Given the description of an element on the screen output the (x, y) to click on. 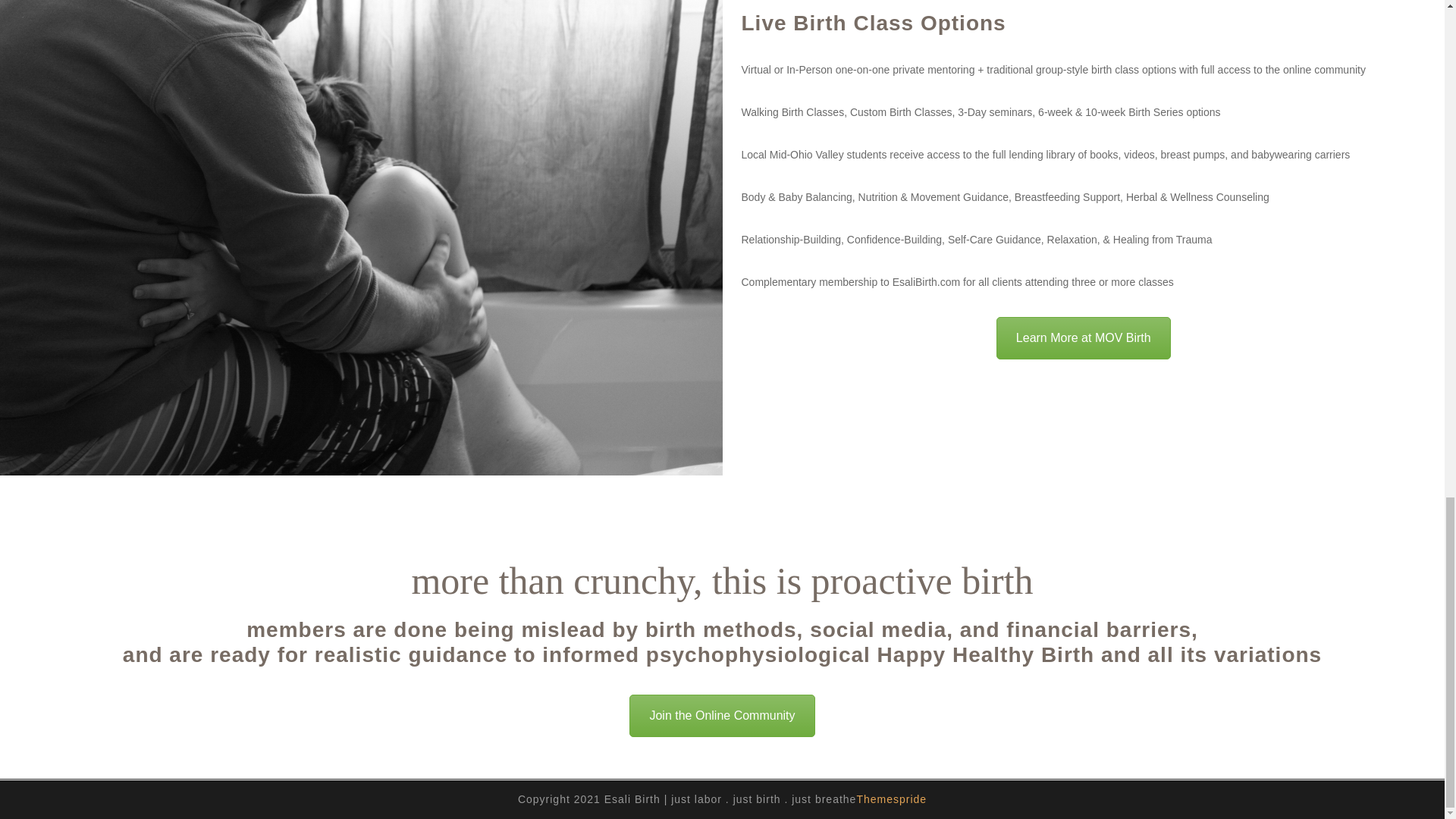
Learn More at MOV Birth (1082, 337)
Themespride (891, 799)
Join the Online Community (720, 715)
